Given the description of an element on the screen output the (x, y) to click on. 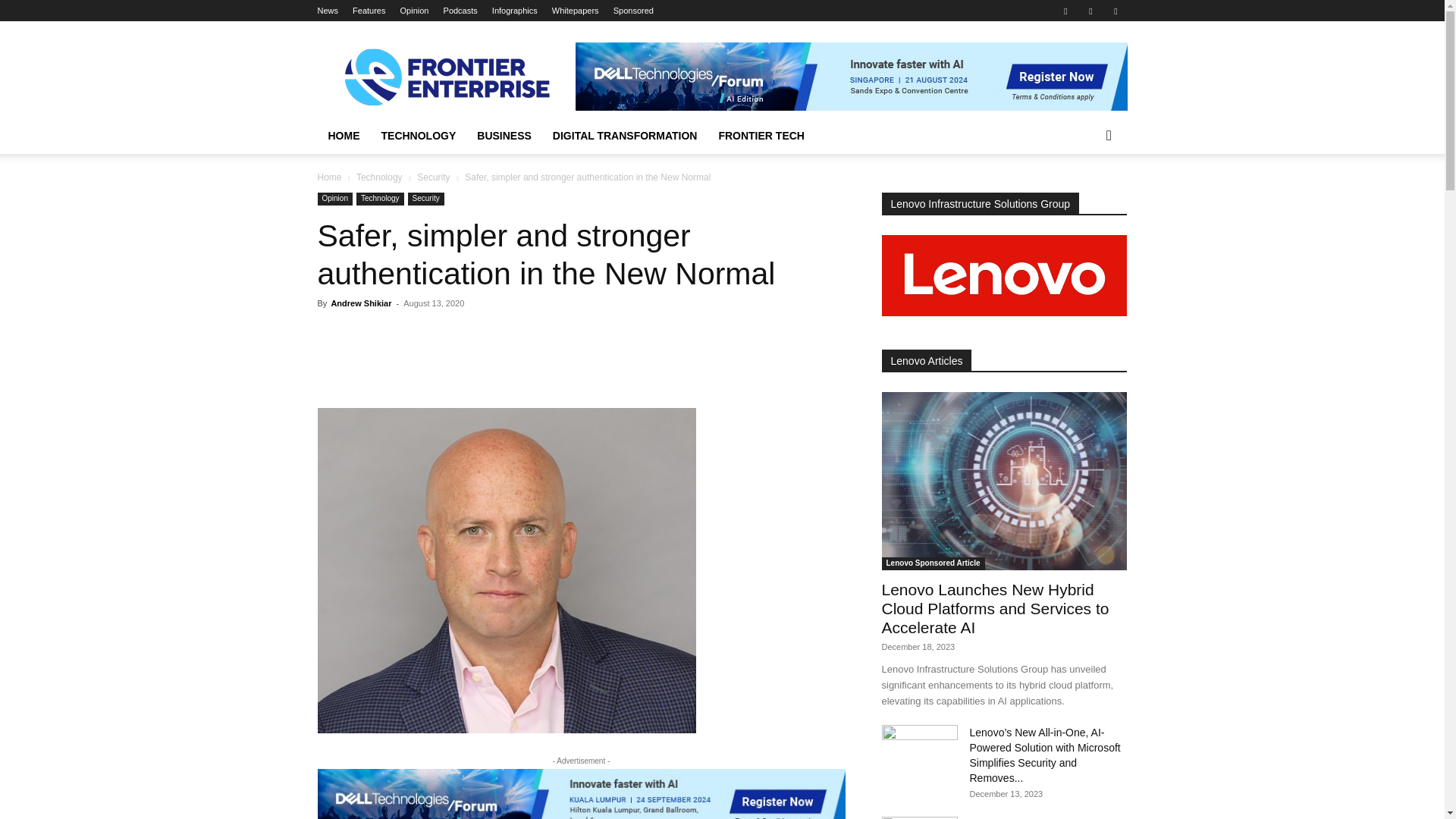
topFacebookLike (430, 330)
Podcasts (460, 10)
Features (368, 10)
Twitter (1114, 10)
Sponsored (632, 10)
View all posts in Technology (379, 176)
Whitepapers (574, 10)
Frontier Enterprise Logo (445, 75)
Facebook (1065, 10)
Opinion (414, 10)
